Given the description of an element on the screen output the (x, y) to click on. 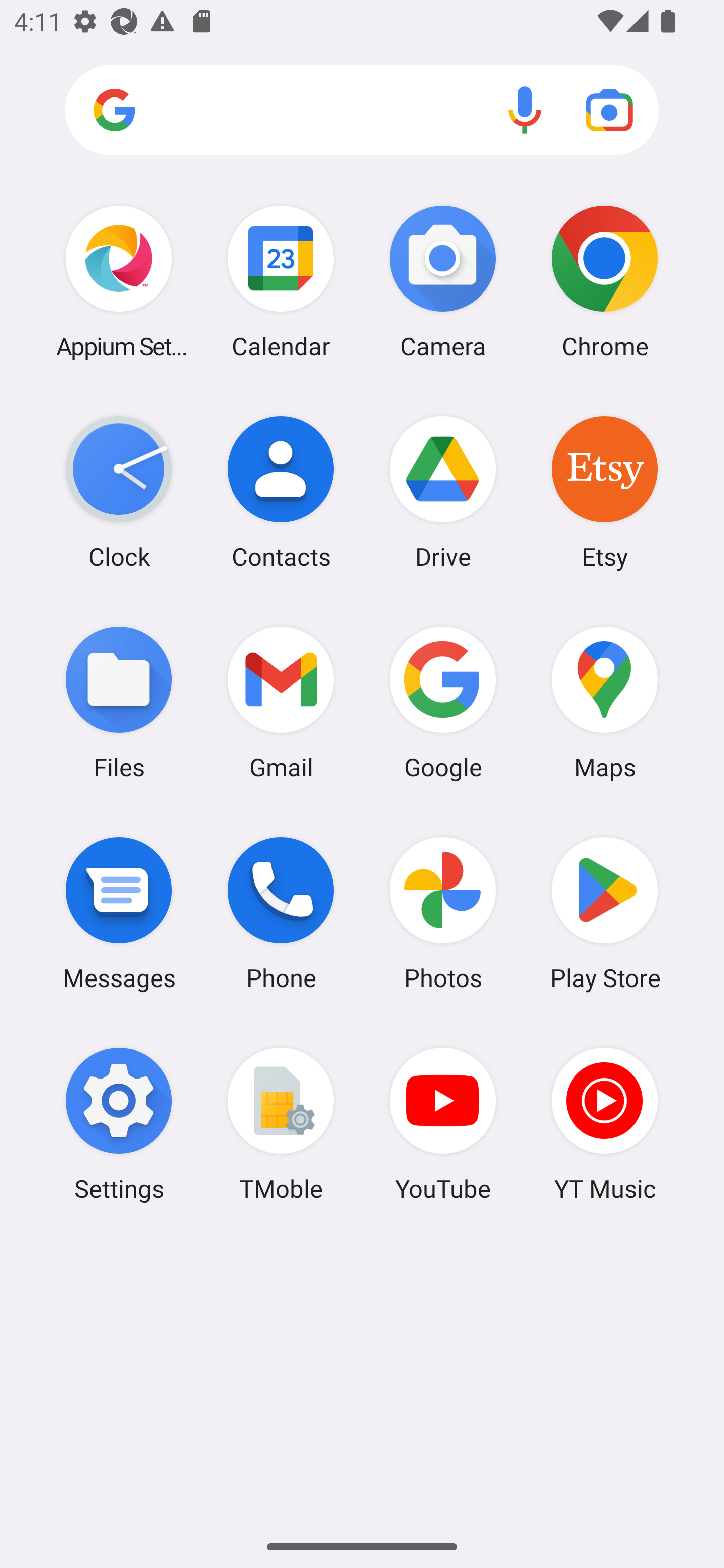
Search apps, web and more (361, 110)
Voice search (524, 109)
Google Lens (608, 109)
Appium Settings (118, 281)
Calendar (280, 281)
Camera (443, 281)
Chrome (604, 281)
Clock (118, 492)
Contacts (280, 492)
Drive (443, 492)
Etsy (604, 492)
Files (118, 702)
Gmail (280, 702)
Google (443, 702)
Maps (604, 702)
Messages (118, 913)
Phone (280, 913)
Photos (443, 913)
Play Store (604, 913)
Settings (118, 1124)
TMoble (280, 1124)
YouTube (443, 1124)
YT Music (604, 1124)
